Given the description of an element on the screen output the (x, y) to click on. 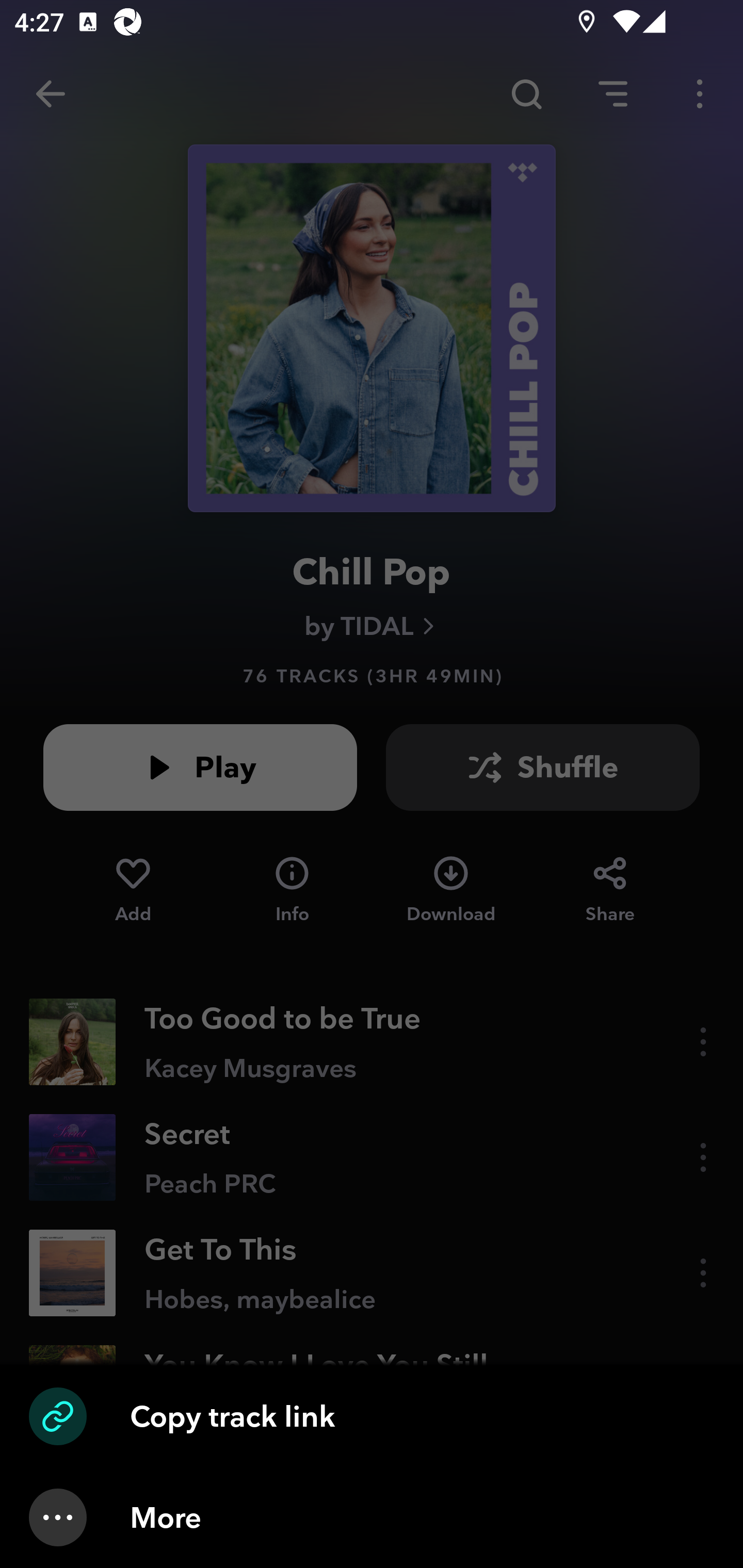
Copy track link (371, 1416)
More (371, 1517)
